Given the description of an element on the screen output the (x, y) to click on. 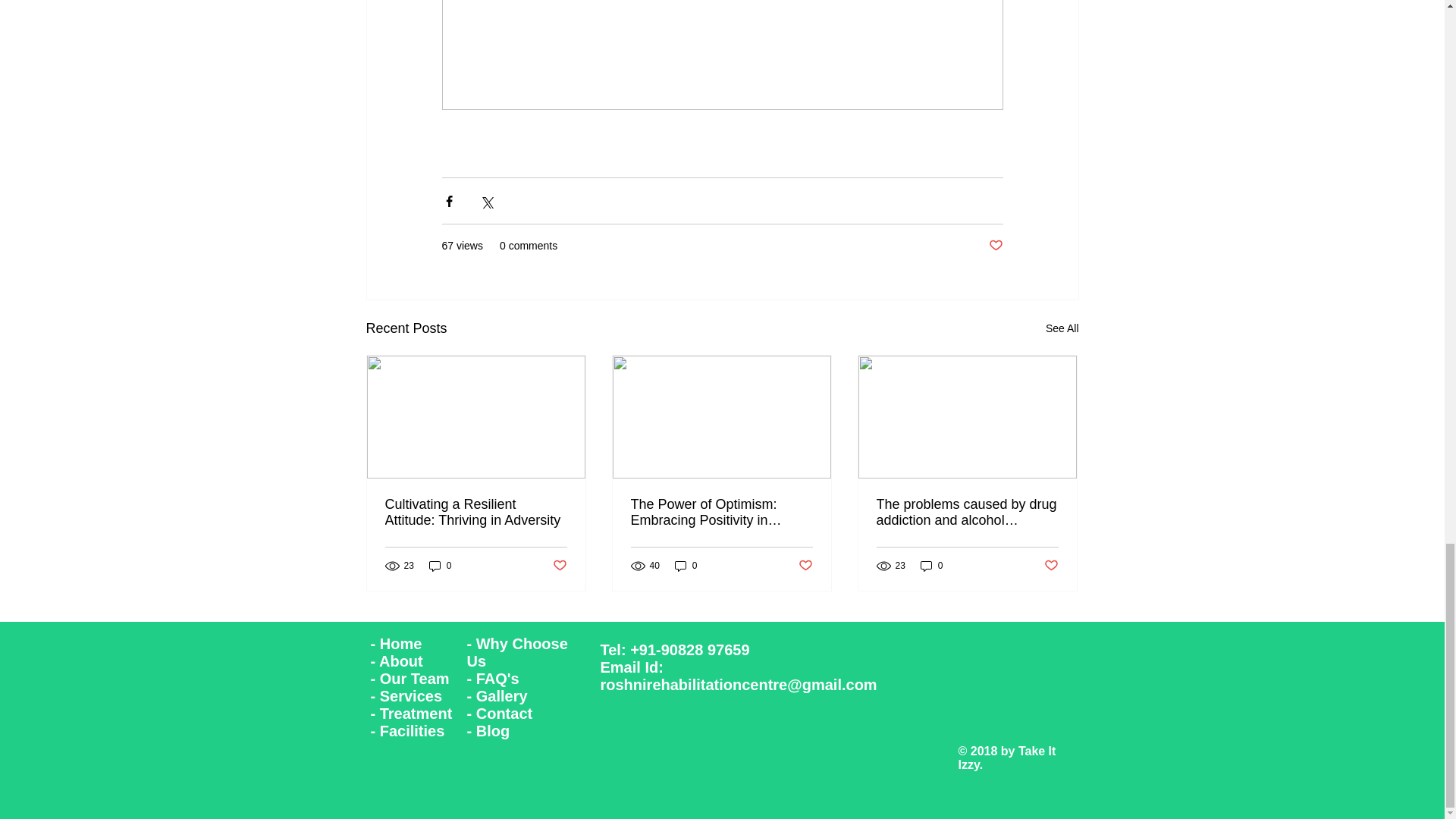
See All (1061, 328)
Cultivating a Resilient Attitude: Thriving in Adversity (476, 512)
0 (440, 565)
Post not marked as liked (558, 565)
Post not marked as liked (995, 245)
